Given the description of an element on the screen output the (x, y) to click on. 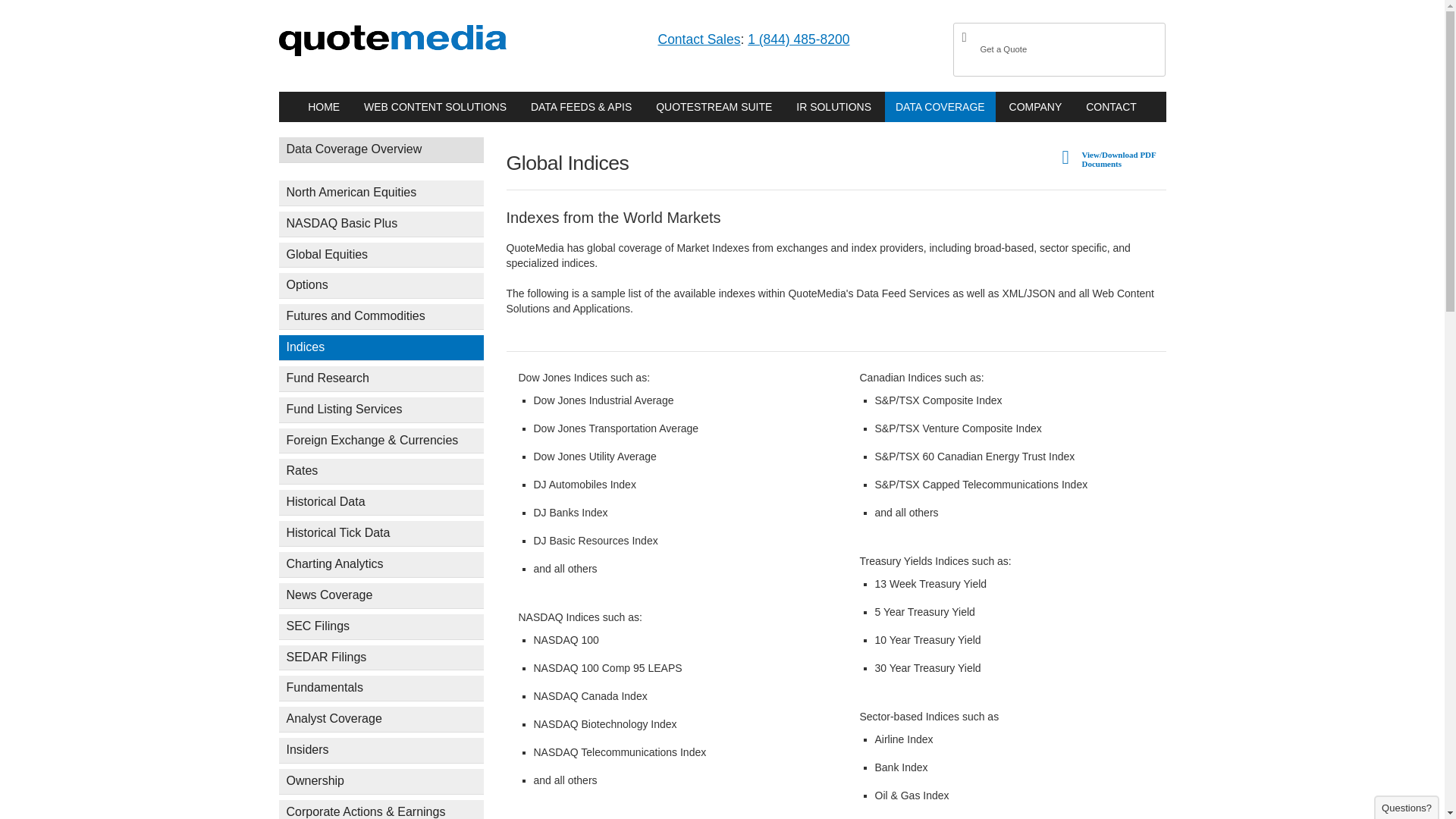
Contact Sales (699, 38)
HOME (323, 106)
WEB CONTENT SOLUTIONS (434, 106)
